Given the description of an element on the screen output the (x, y) to click on. 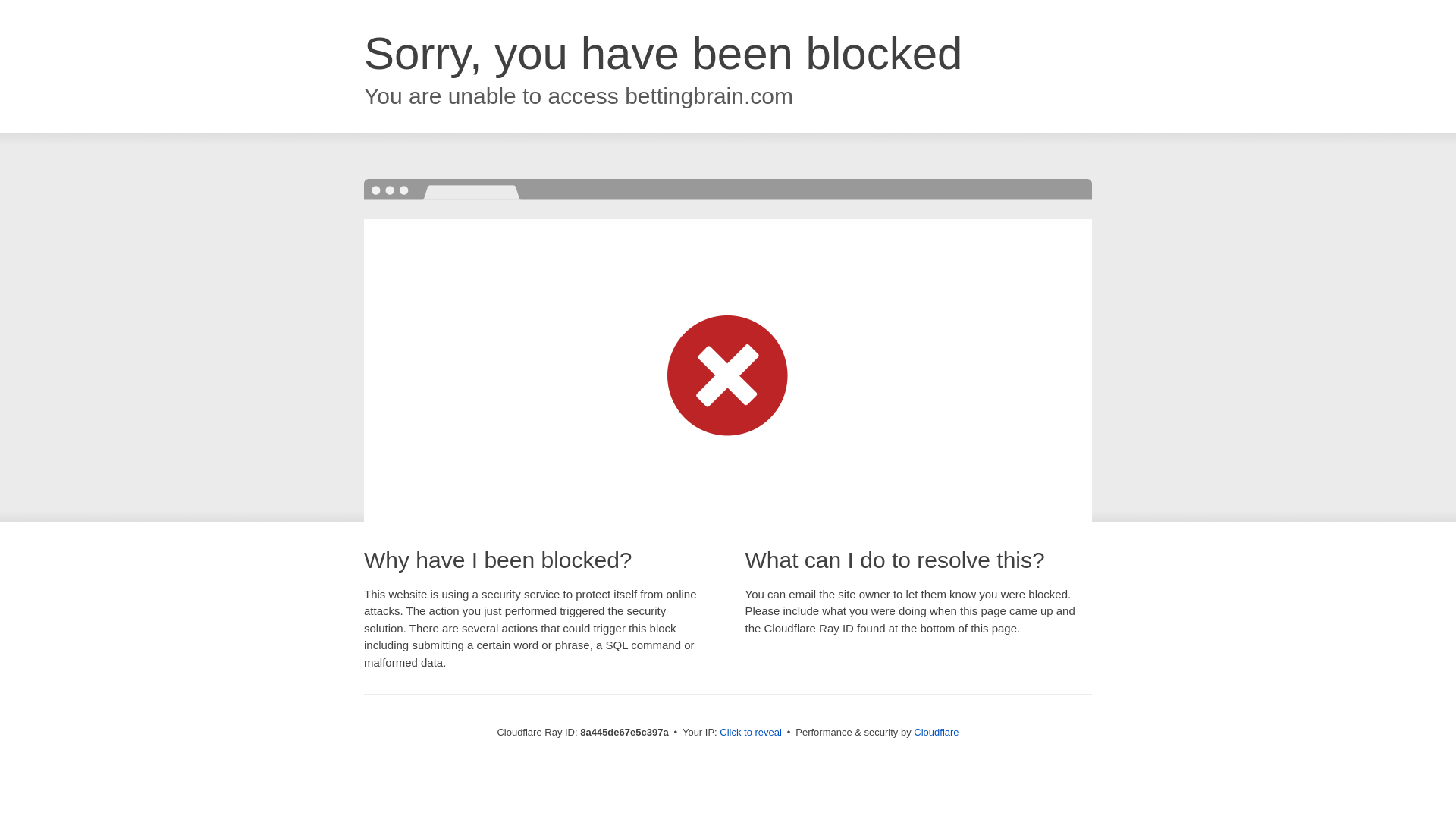
Cloudflare (936, 731)
Click to reveal (750, 732)
